Given the description of an element on the screen output the (x, y) to click on. 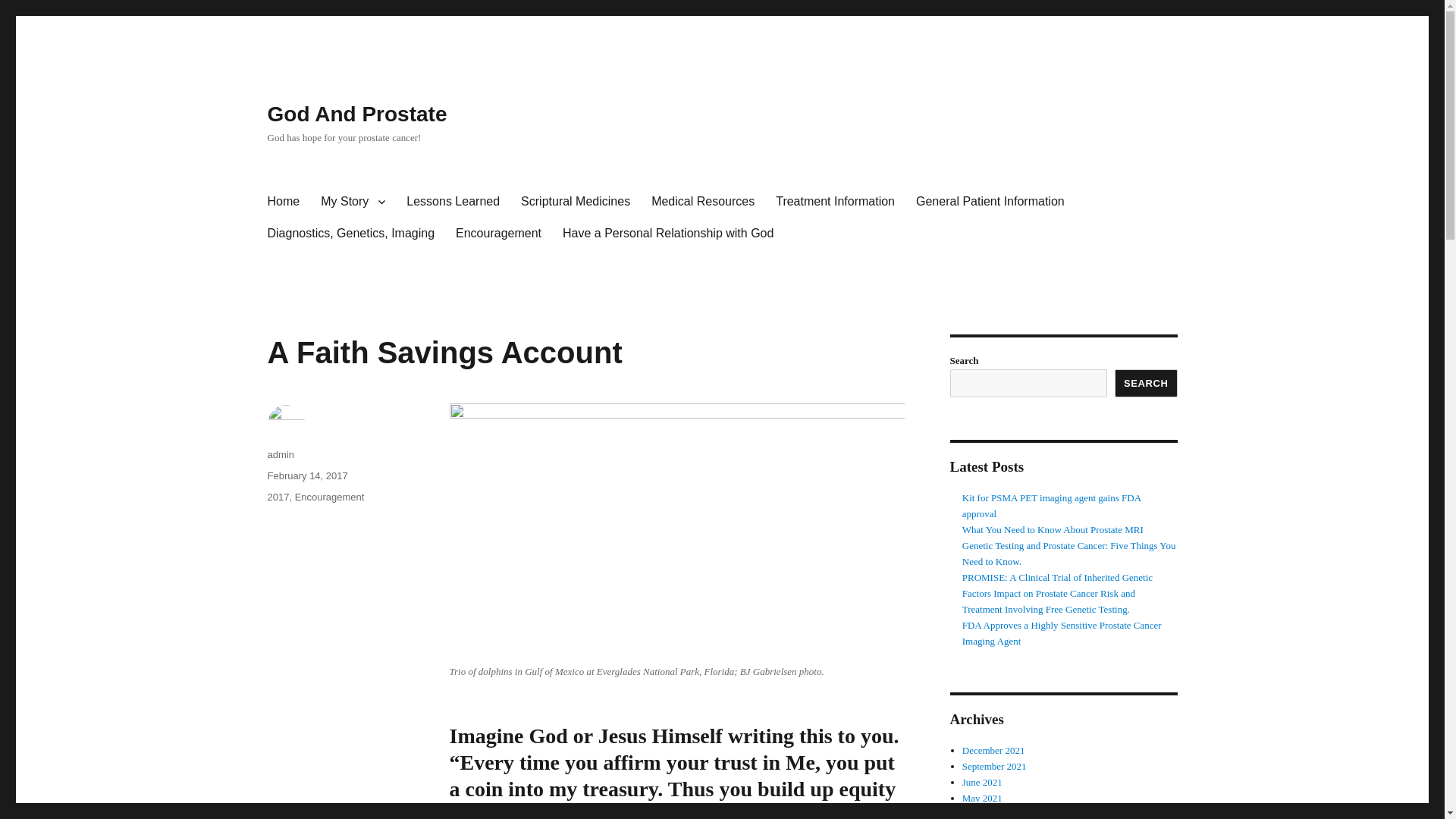
Treatment Information (835, 201)
General Patient Information (990, 201)
Kit for PSMA PET imaging agent gains FDA approval (1051, 505)
June 2021 (982, 781)
What You Need to Know About Prostate MRI (1052, 529)
Lessons Learned (453, 201)
Diagnostics, Genetics, Imaging (350, 233)
Medical Resources (702, 201)
Scriptural Medicines (575, 201)
February 14, 2017 (306, 475)
Home (283, 201)
December 2021 (993, 749)
Encouragement (330, 496)
